Given the description of an element on the screen output the (x, y) to click on. 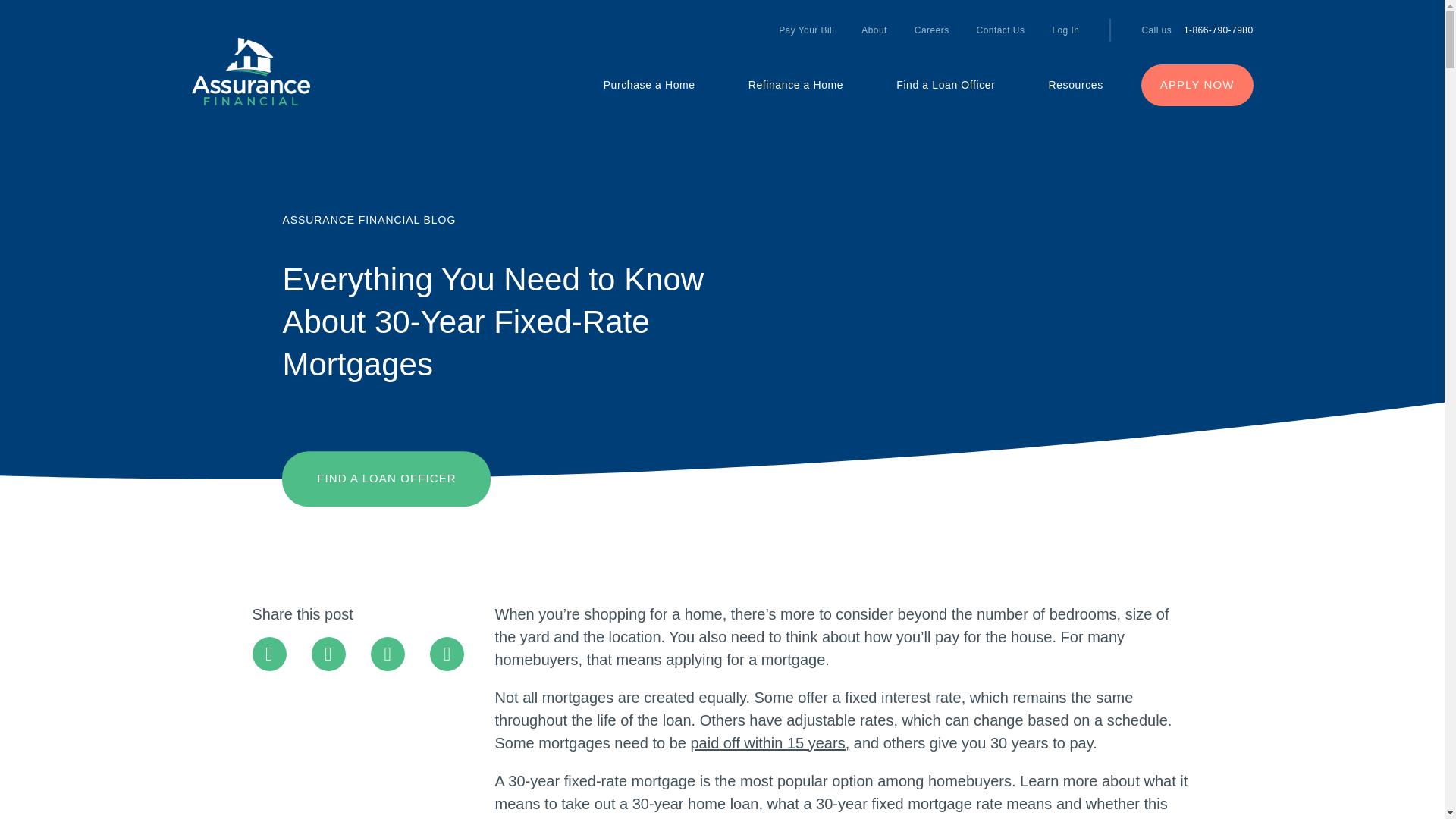
About (874, 29)
Log In (1058, 29)
APPLY NOW (1197, 85)
Refinance a Home (796, 84)
Purchase a Home (649, 84)
1-866-790-7980 (1218, 29)
Pay Your Bill (806, 29)
Contact Us (1000, 29)
FIND A LOAN OFFICER (386, 478)
paid off within 15 years, (769, 742)
